Given the description of an element on the screen output the (x, y) to click on. 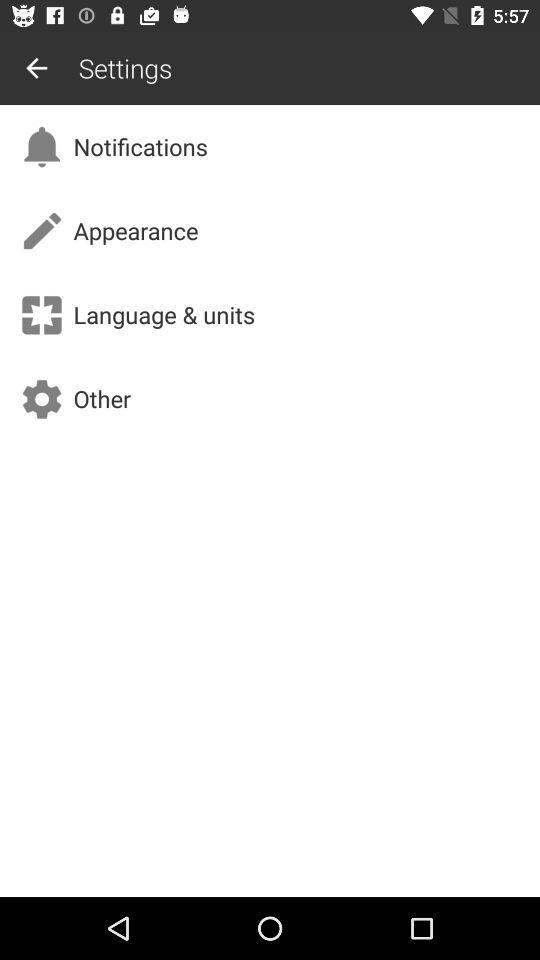
select the icon to the left of the settings (36, 68)
